Given the description of an element on the screen output the (x, y) to click on. 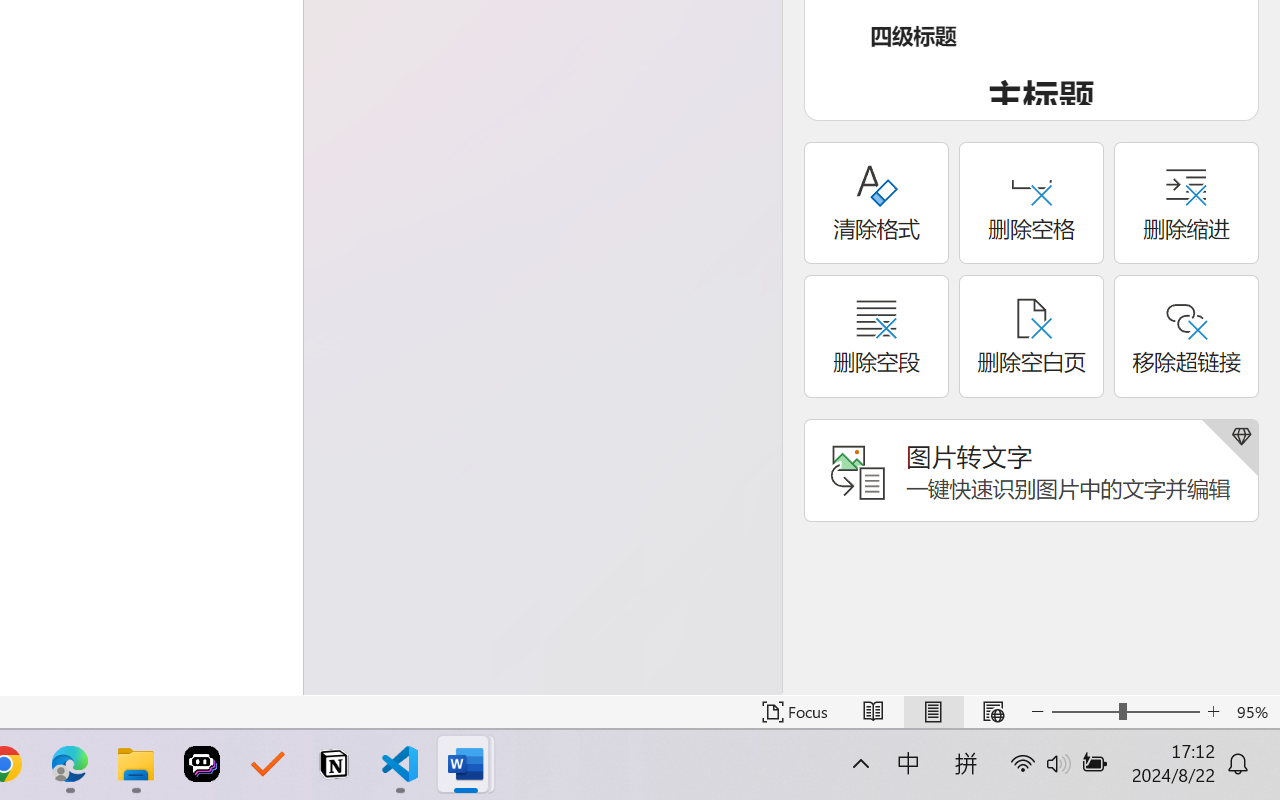
Zoom 95% (1253, 712)
